Given the description of an element on the screen output the (x, y) to click on. 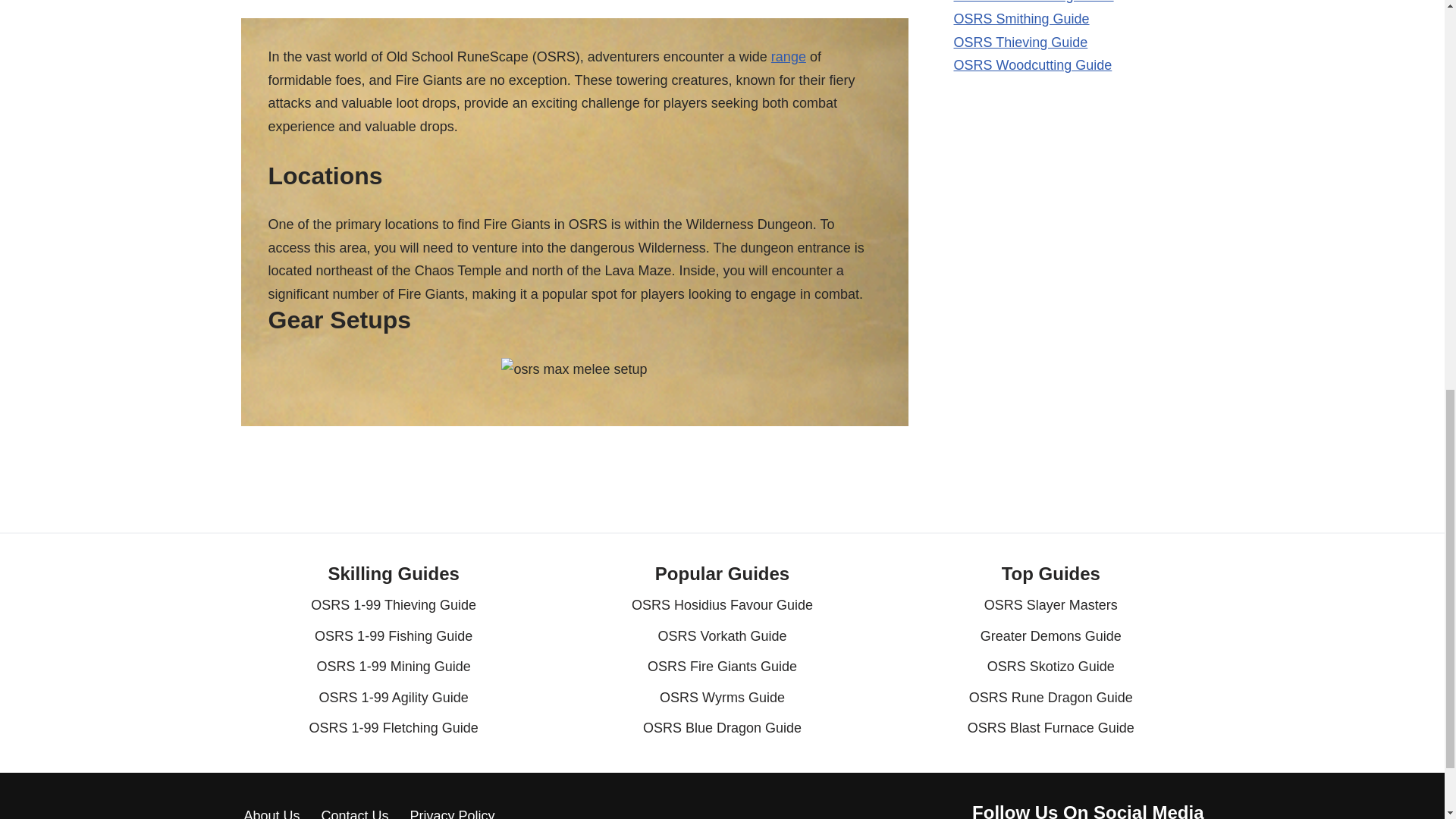
range (788, 56)
